Given the description of an element on the screen output the (x, y) to click on. 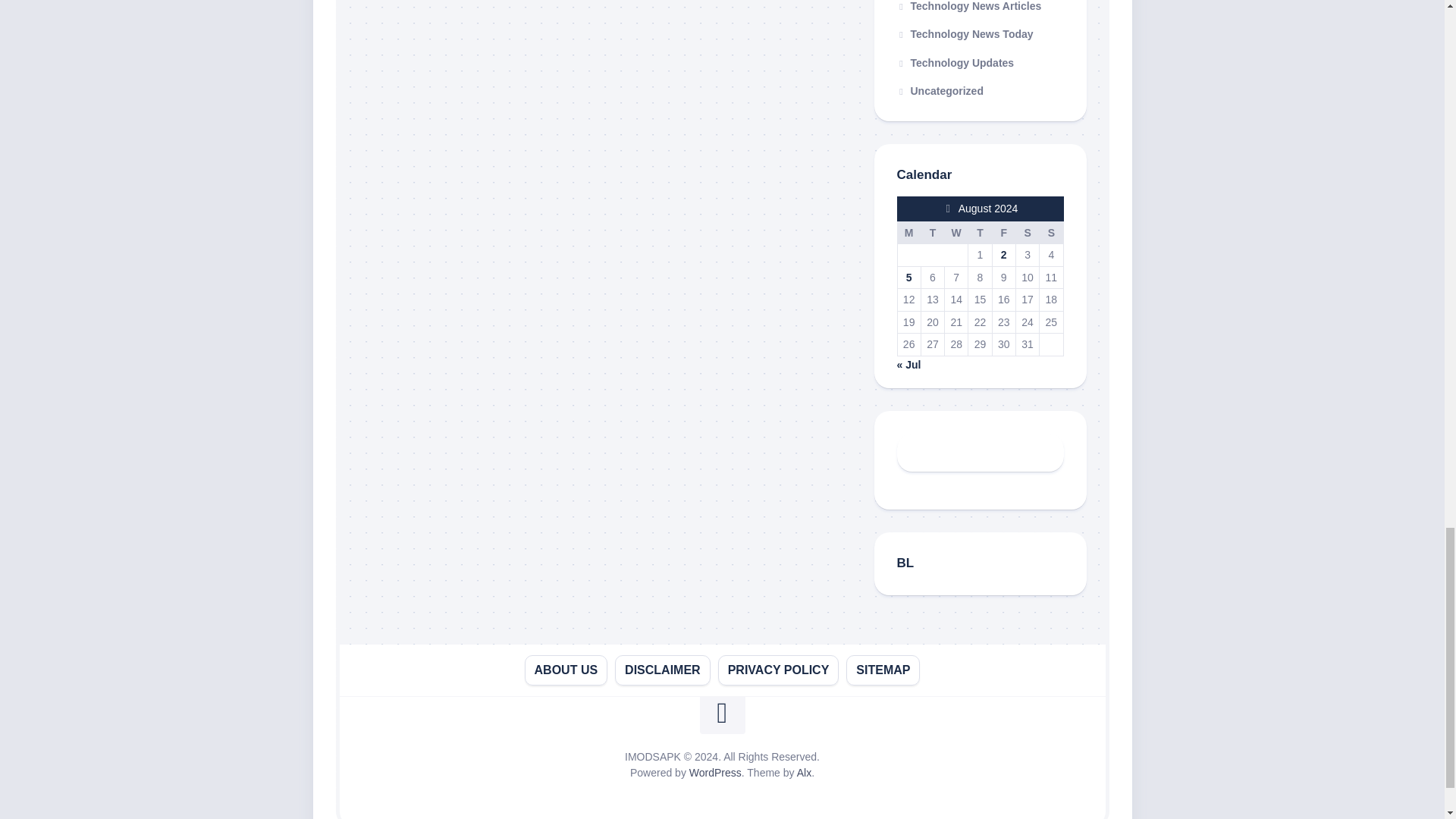
Sunday (1050, 232)
Wednesday (956, 232)
Friday (1002, 232)
Tuesday (931, 232)
Monday (908, 232)
Thursday (979, 232)
Saturday (1026, 232)
